Given the description of an element on the screen output the (x, y) to click on. 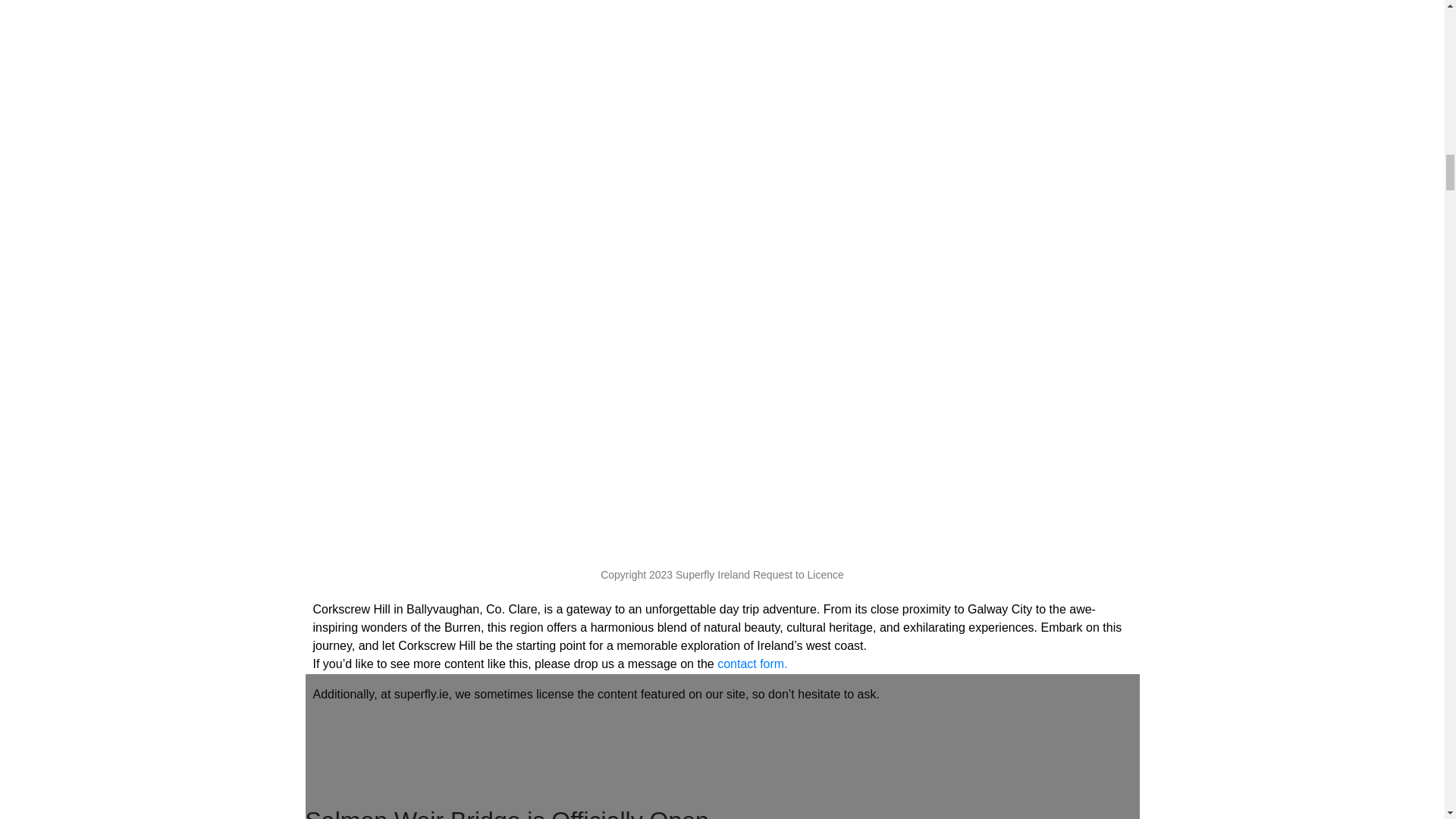
Salmon Weir Bridge is Officially Open (505, 812)
Salmon Weir Bridge is Officially Open (505, 812)
contact form. (752, 663)
